Given the description of an element on the screen output the (x, y) to click on. 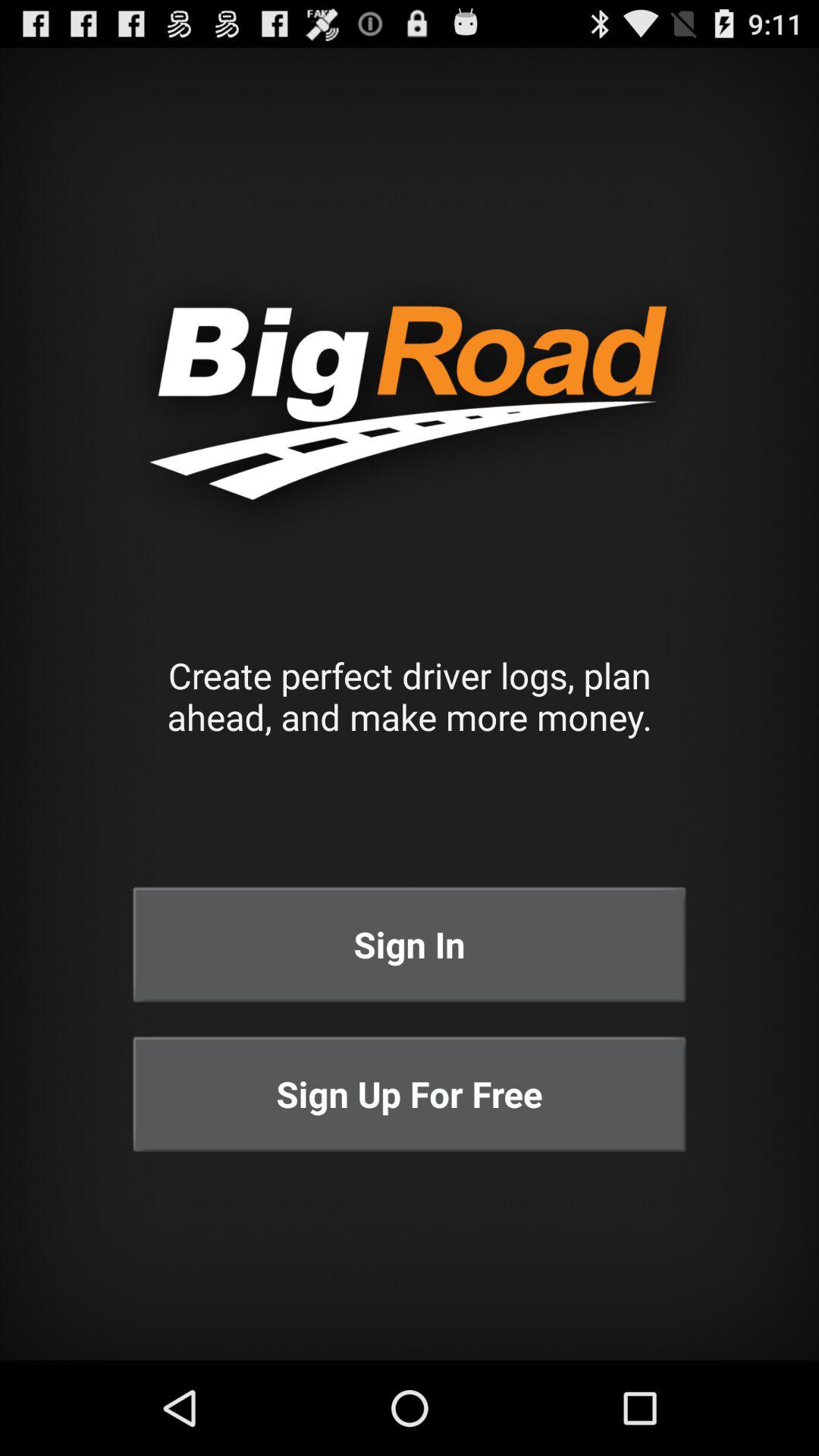
tap the sign in button (409, 944)
